Given the description of an element on the screen output the (x, y) to click on. 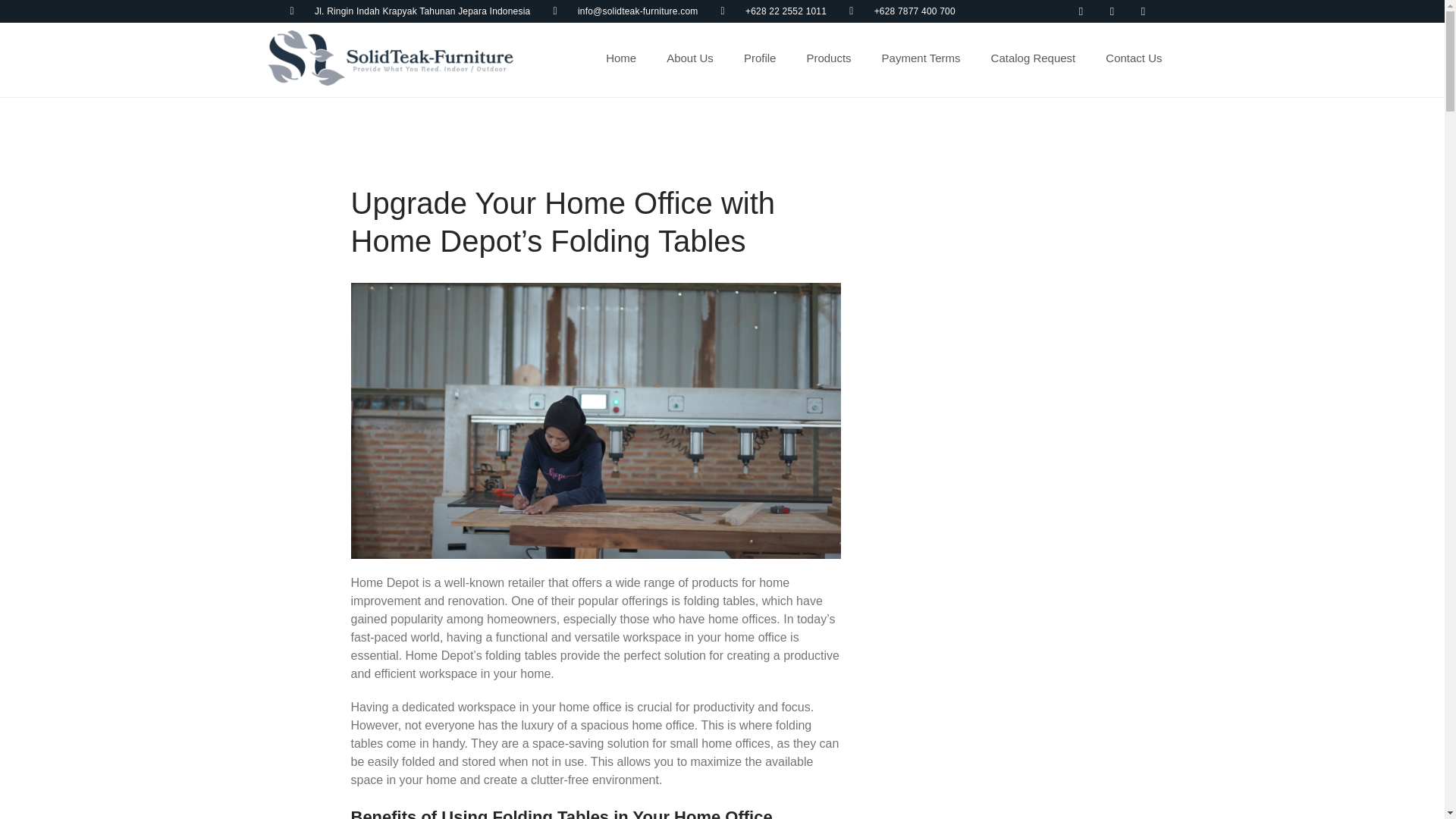
Products (828, 57)
About Us (689, 57)
Profile (760, 57)
Jl. Ringin Indah Krapyak Tahunan Jepara Indonesia (409, 11)
Home (620, 57)
